Given the description of an element on the screen output the (x, y) to click on. 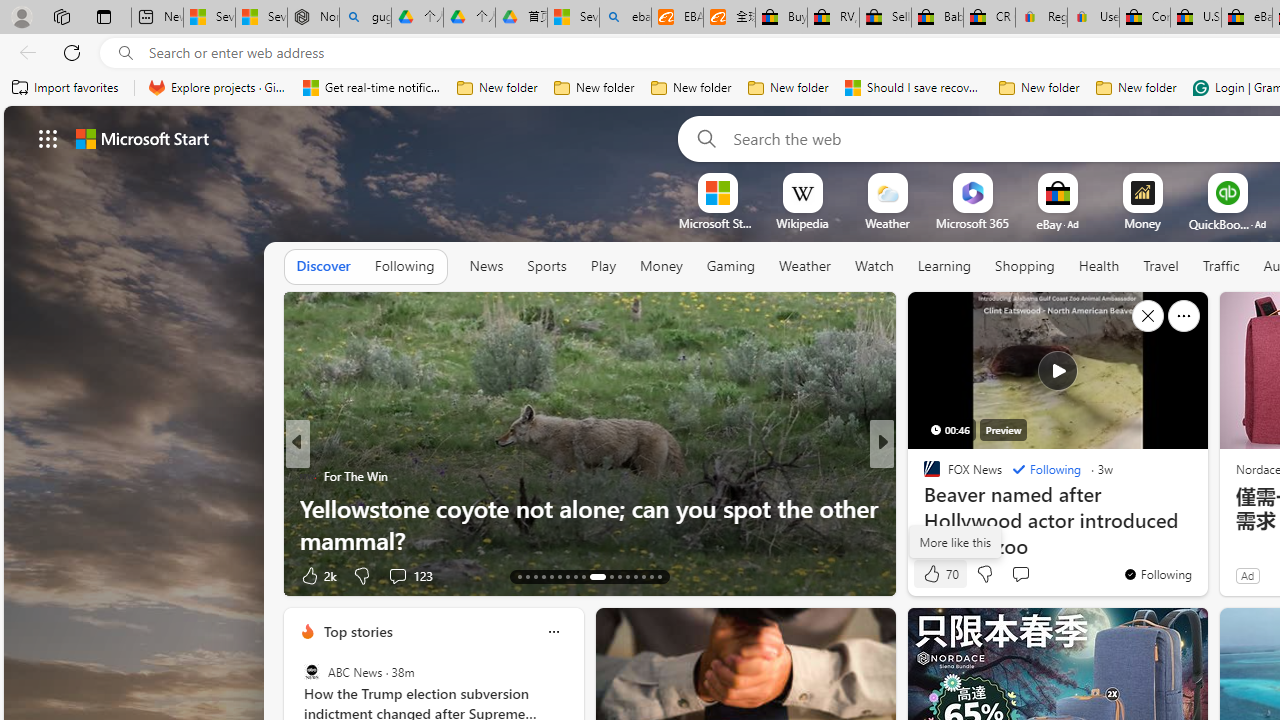
AutomationID: tab-19 (567, 576)
AutomationID: tab-35 (659, 576)
Microsoft start (142, 138)
AutomationID: tab-17 (550, 576)
